Given the description of an element on the screen output the (x, y) to click on. 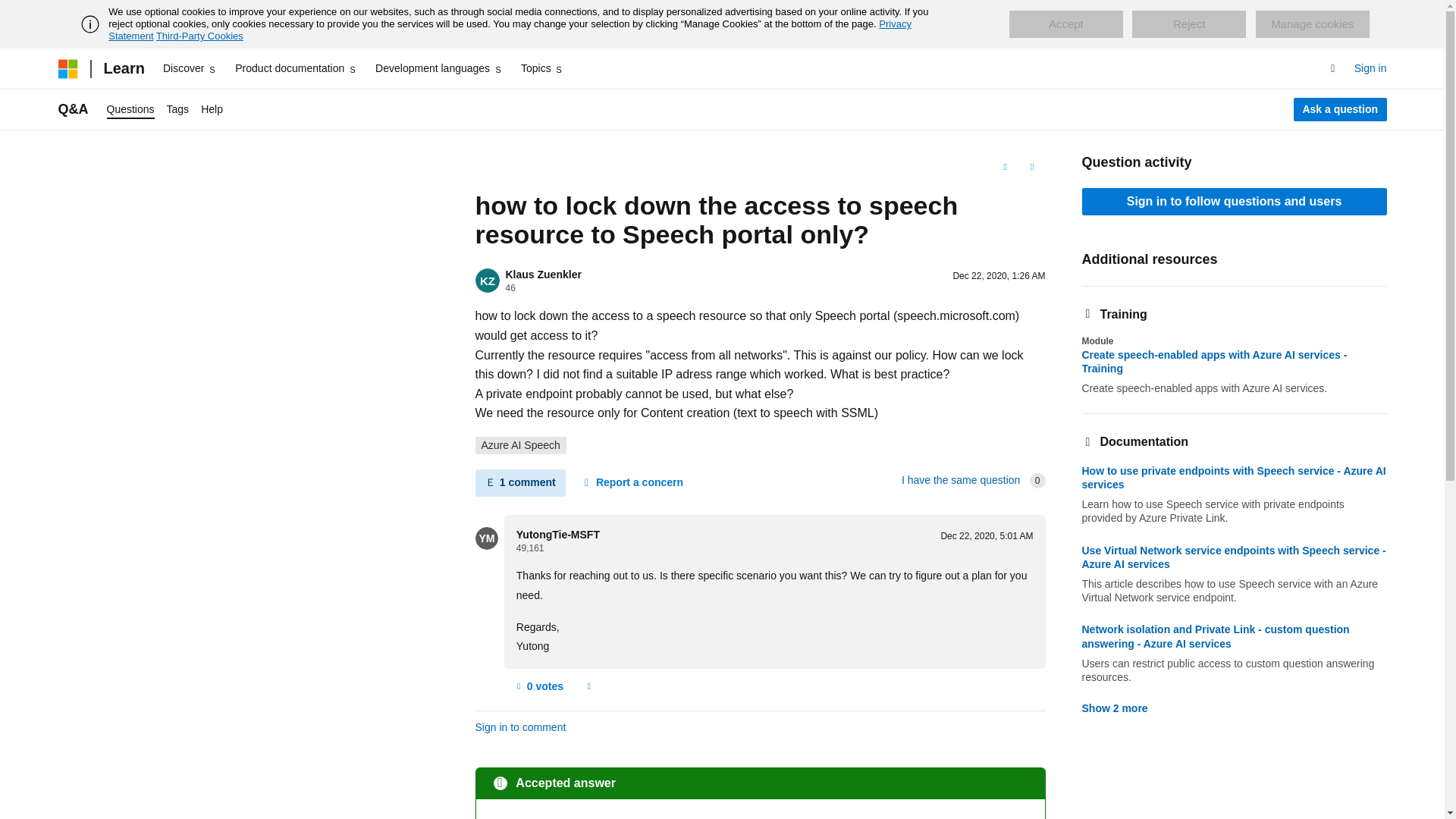
Reject (1189, 23)
Manage cookies (1312, 23)
Report a concern (588, 686)
Sign in (1370, 68)
Discover (189, 68)
Hide comments for this question (519, 482)
Privacy Statement (509, 29)
Share this question (1031, 166)
Klaus Zuenkler (542, 274)
You have the same or similar question (960, 480)
